Given the description of an element on the screen output the (x, y) to click on. 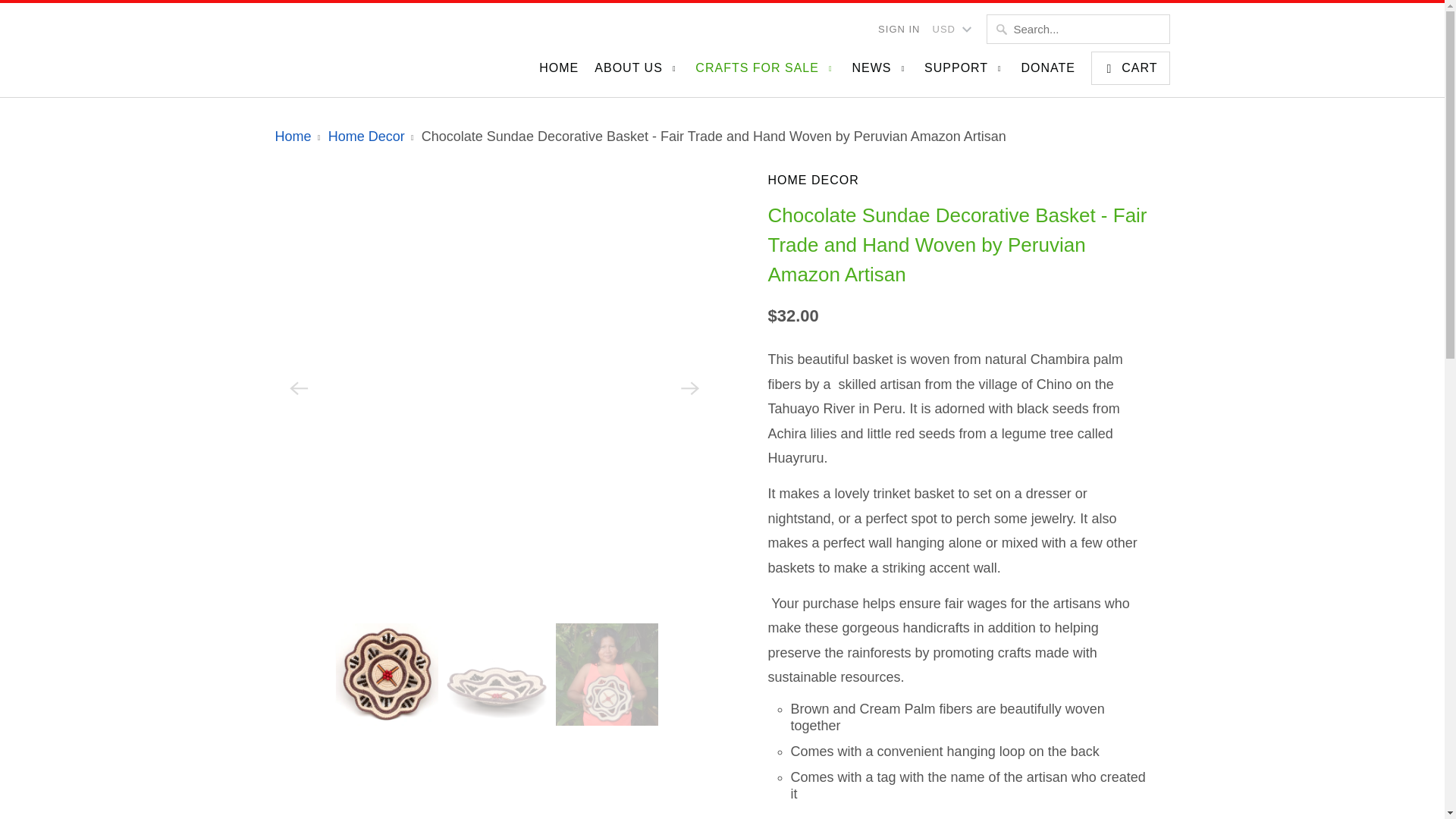
Cart (1130, 68)
Amazon Ecology (388, 42)
ABOUT US (636, 72)
HOME (558, 71)
Home Decor (958, 183)
Amazon Ecology (293, 136)
My Account (898, 29)
CRAFTS FOR SALE (765, 72)
SIGN IN (898, 29)
